Given the description of an element on the screen output the (x, y) to click on. 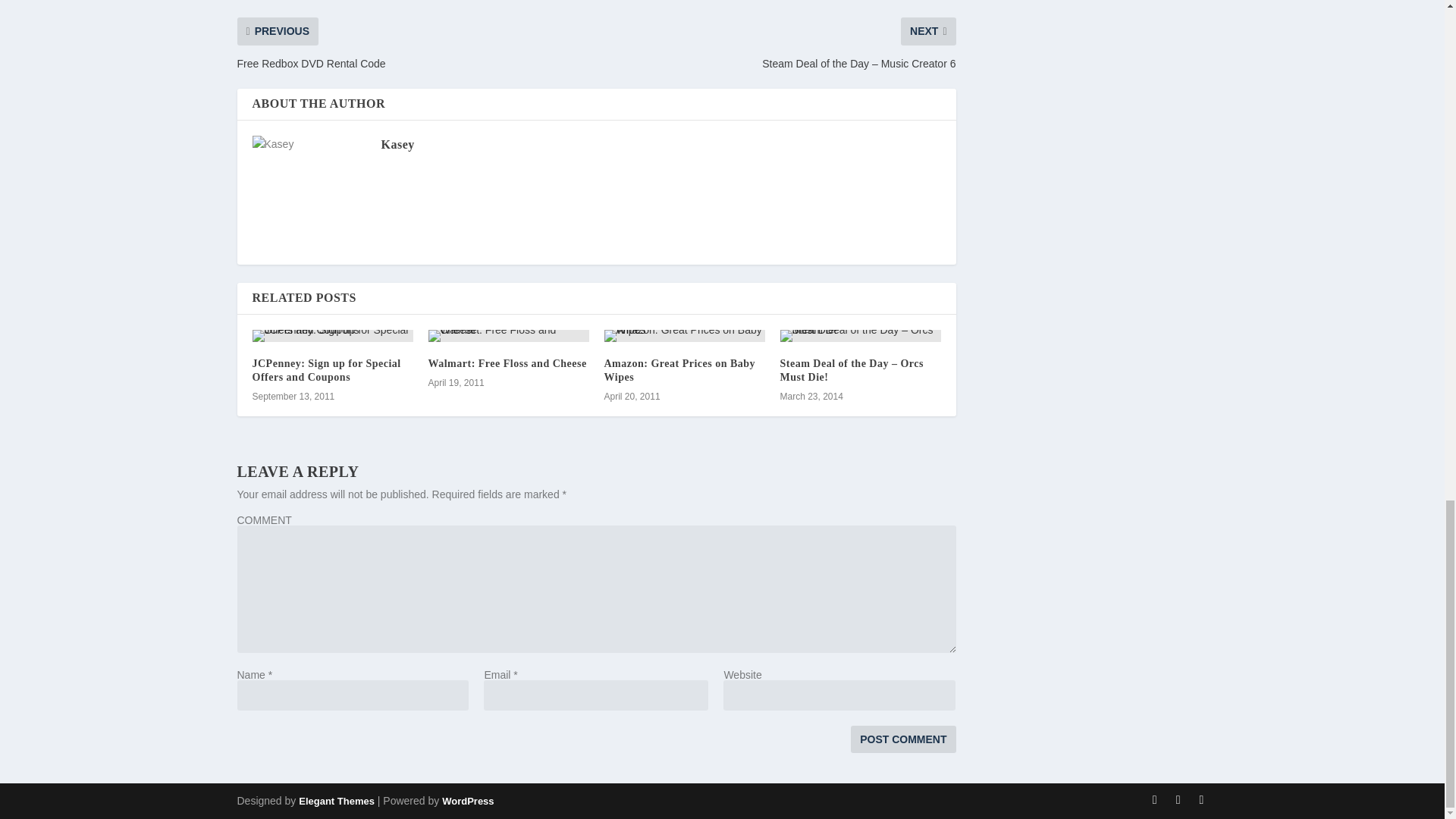
Post Comment (902, 738)
